Given the description of an element on the screen output the (x, y) to click on. 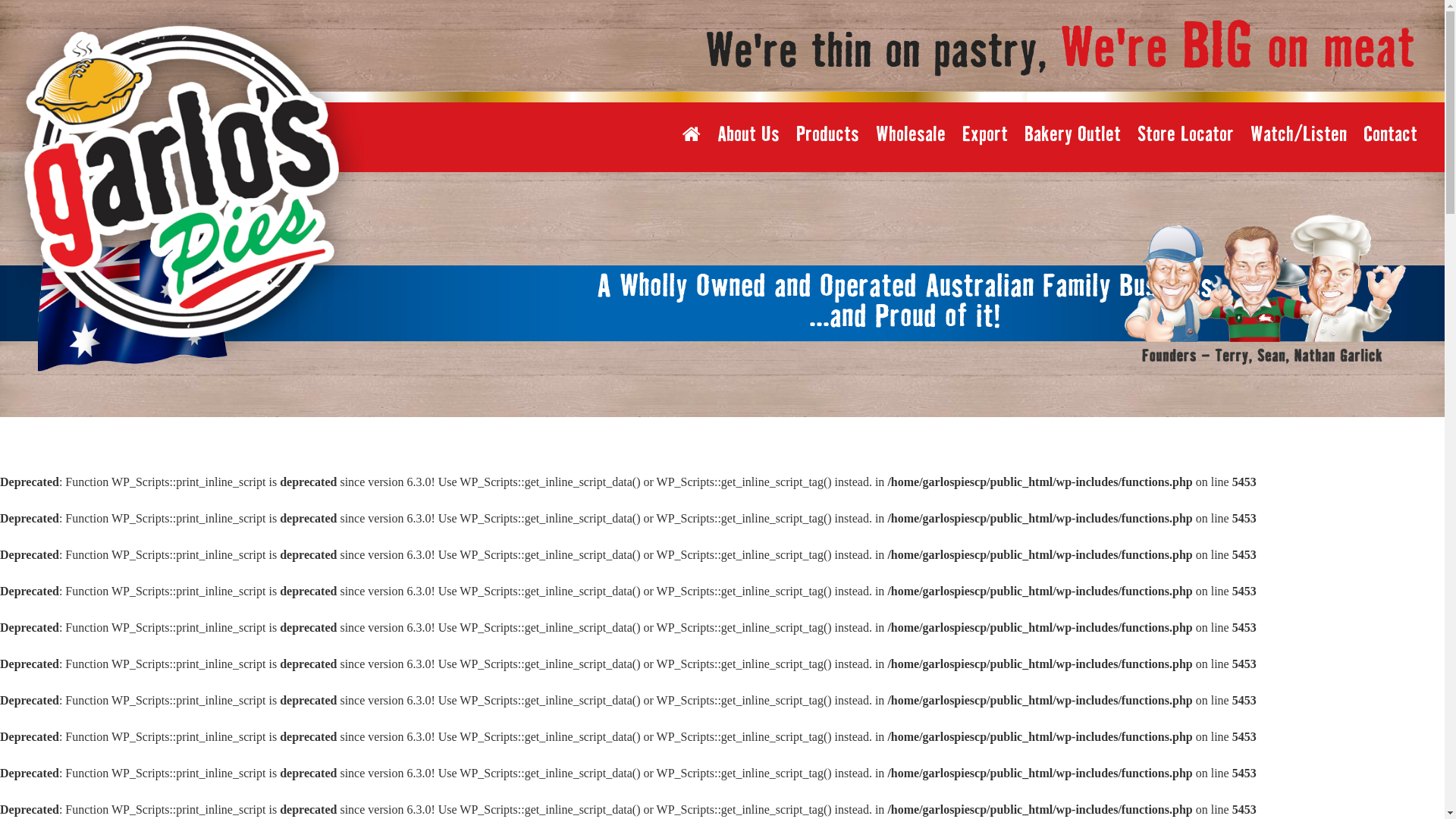
Wholesale Element type: text (910, 135)
Store Locator Element type: text (1185, 135)
Bakery Outlet Element type: text (1072, 135)
About Us Element type: text (748, 135)
Watch/Listen Element type: text (1298, 135)
Products Element type: text (827, 135)
Export Element type: text (984, 135)
Contact Element type: text (1390, 135)
